Given the description of an element on the screen output the (x, y) to click on. 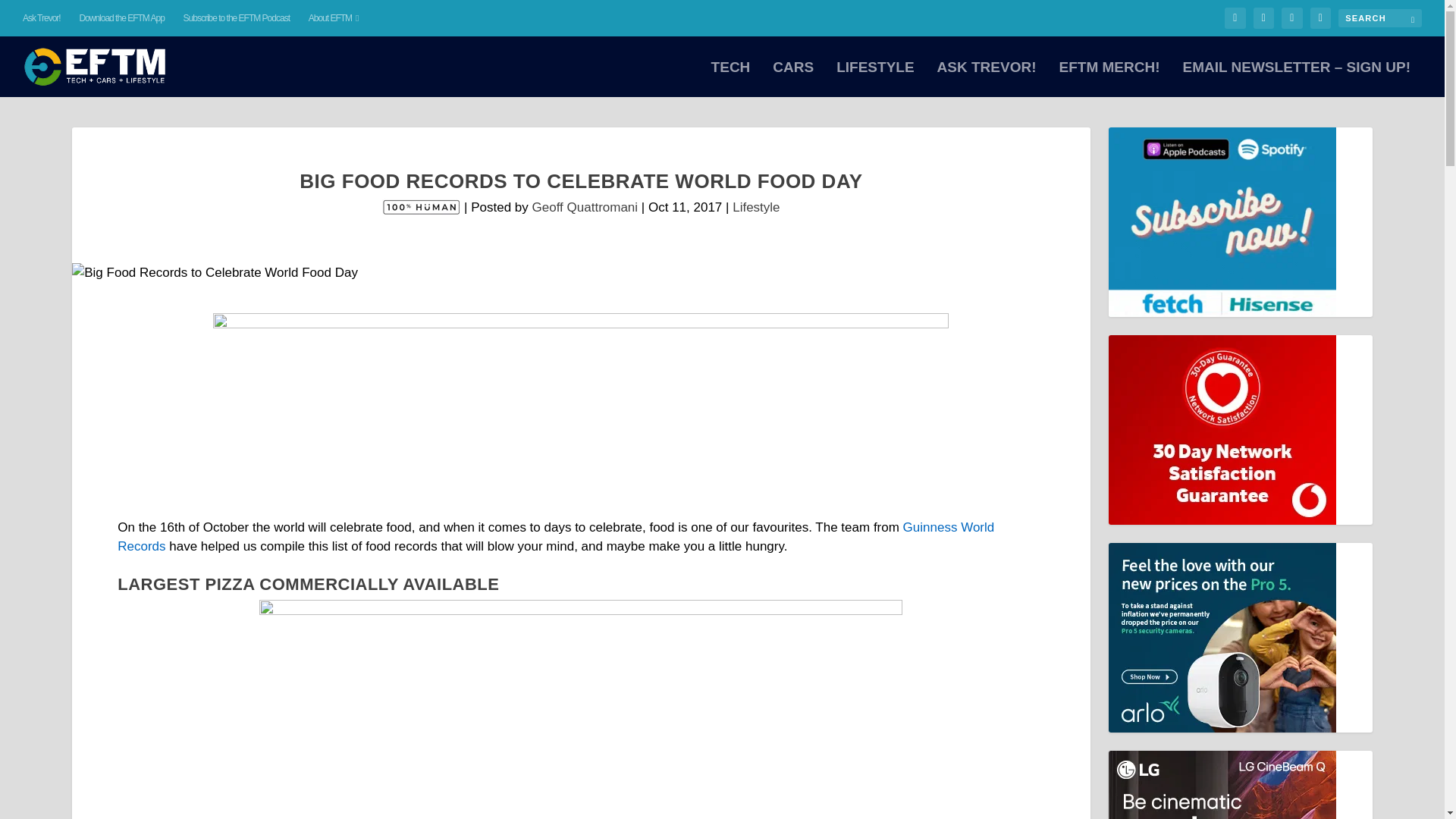
TECH (731, 79)
CARS (793, 79)
Search for: (1380, 18)
Ask Trevor! (42, 18)
ASK TREVOR! (986, 79)
About EFTM (333, 18)
Posts by Geoff Quattromani (585, 206)
Guinness World Records (555, 537)
LIFESTYLE (874, 79)
EFTM MERCH! (1108, 79)
